Given the description of an element on the screen output the (x, y) to click on. 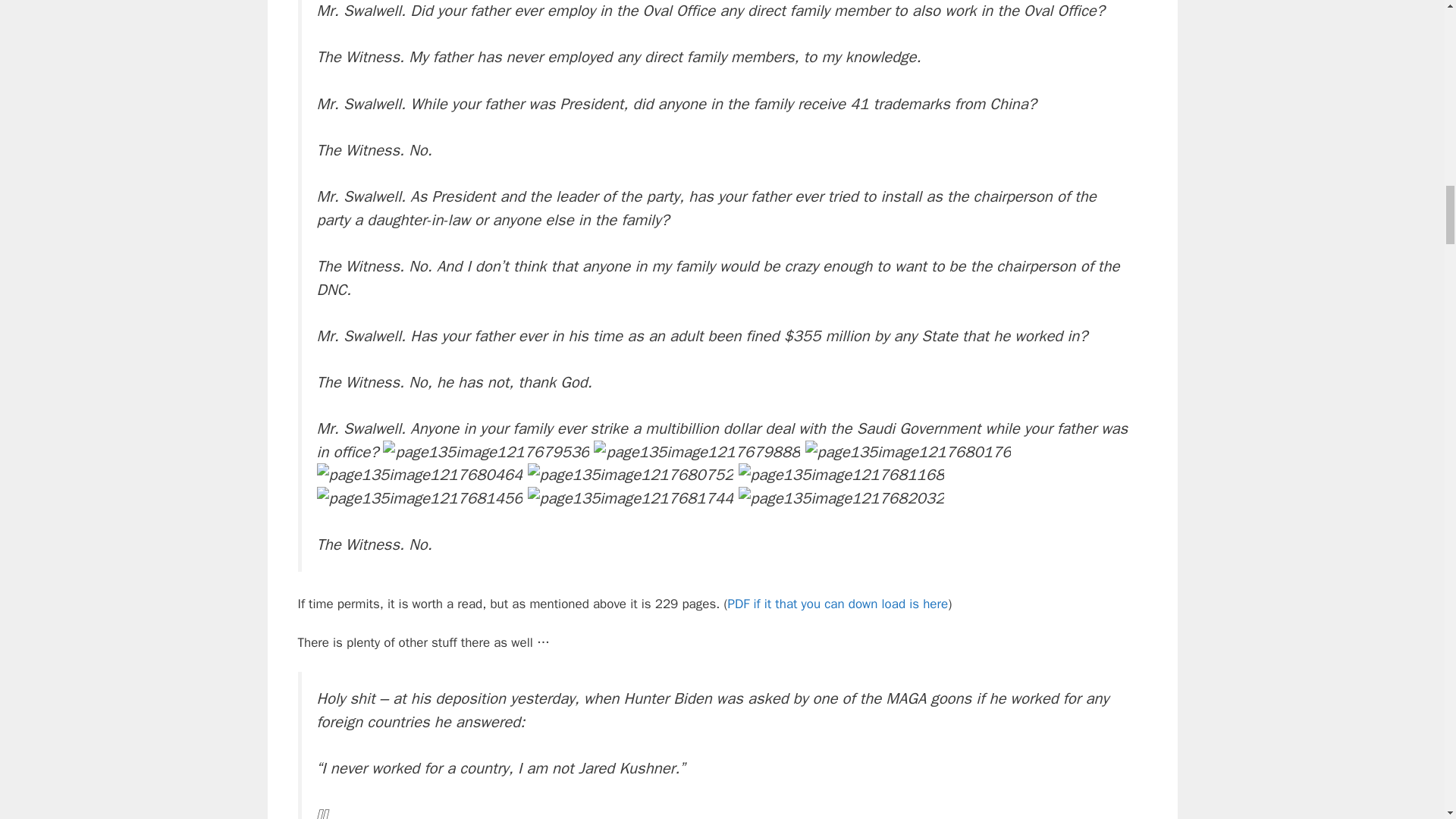
PDF if it that you can down load is here (838, 603)
